Given the description of an element on the screen output the (x, y) to click on. 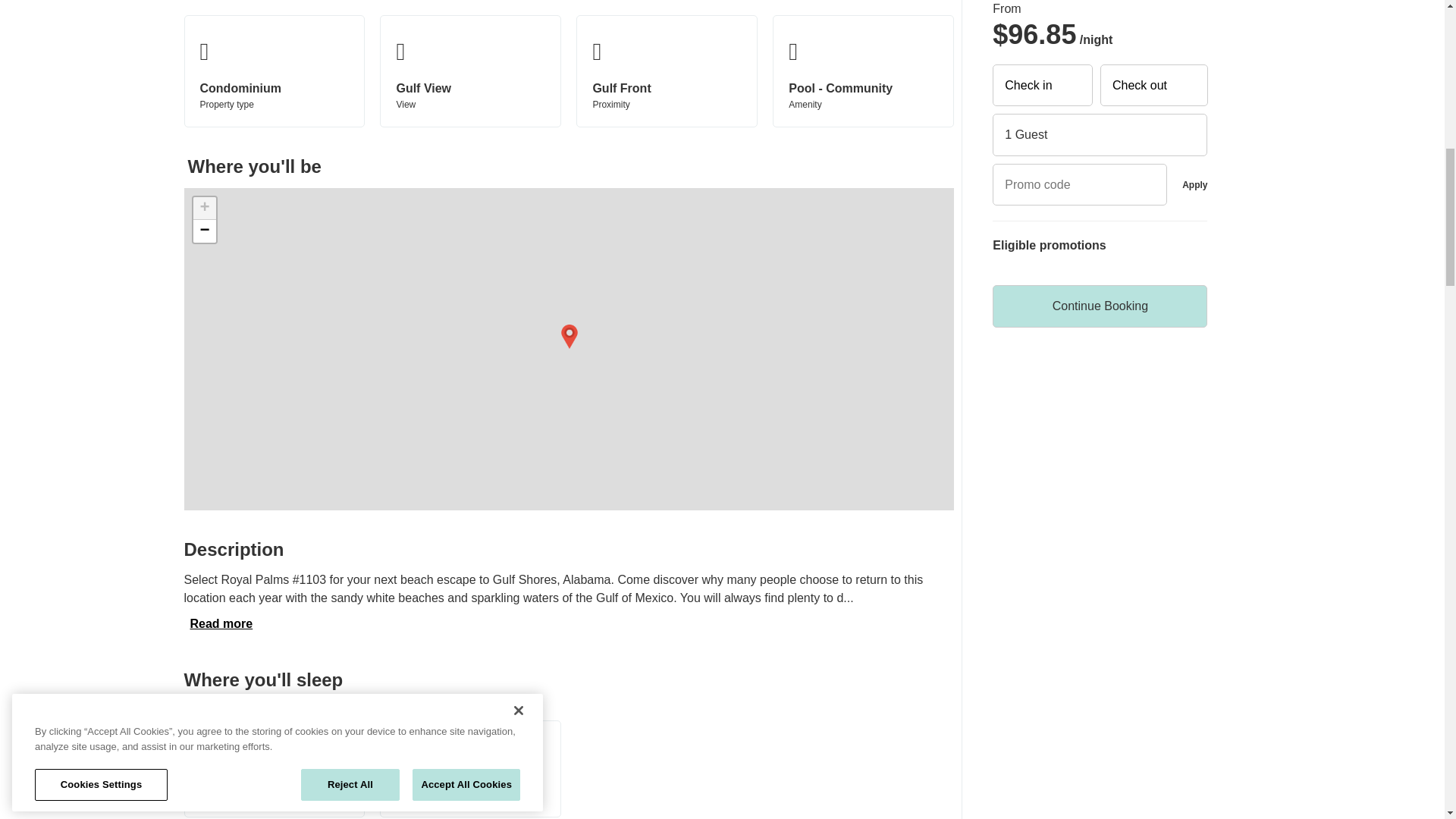
Read more (221, 623)
